Given the description of an element on the screen output the (x, y) to click on. 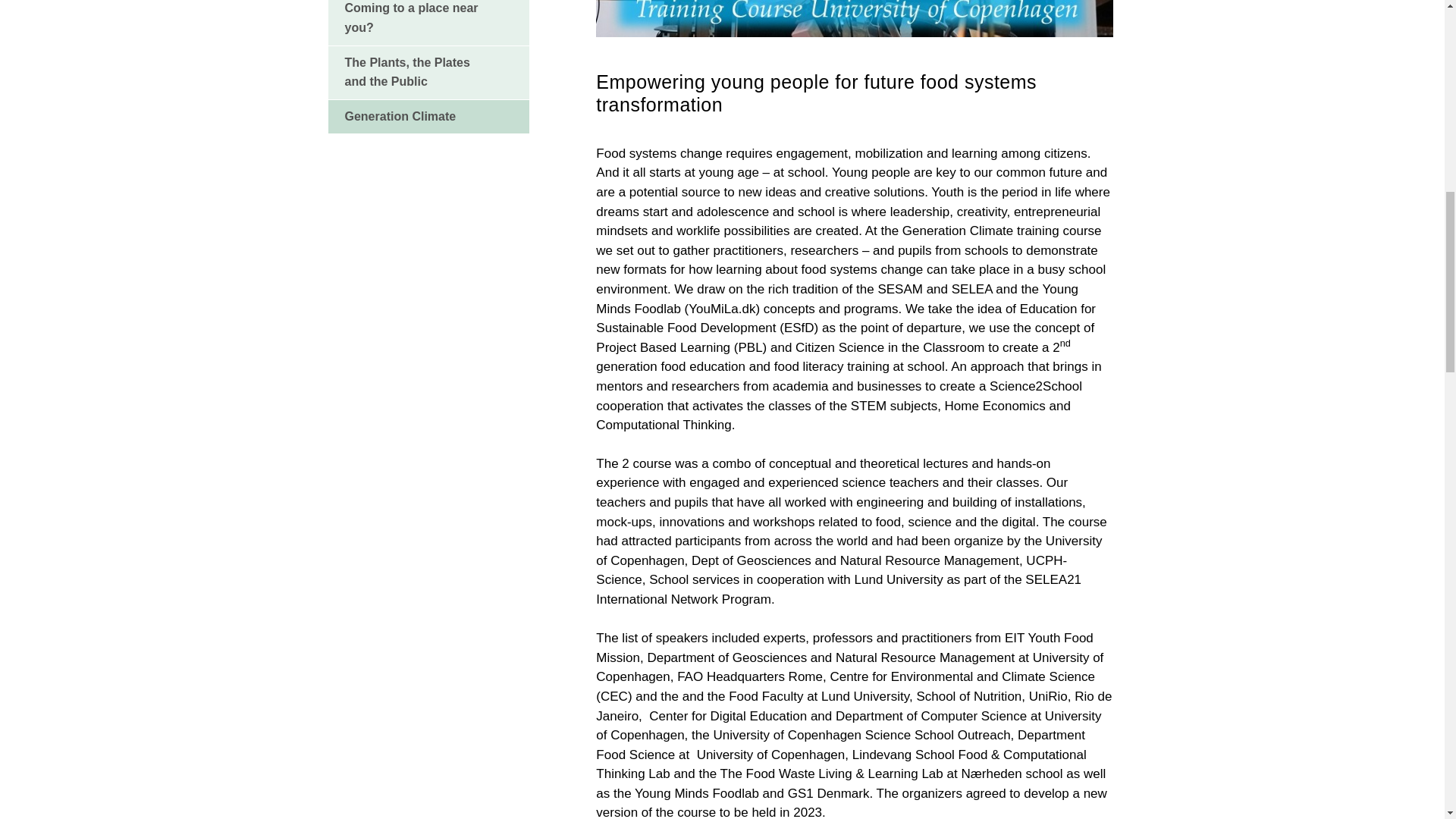
The Plants, the Plates and the Public (427, 71)
Generation Climate (427, 116)
Visit page The Plants, the Plates and the Public (427, 71)
Visit page Generation Climate (427, 116)
